Given the description of an element on the screen output the (x, y) to click on. 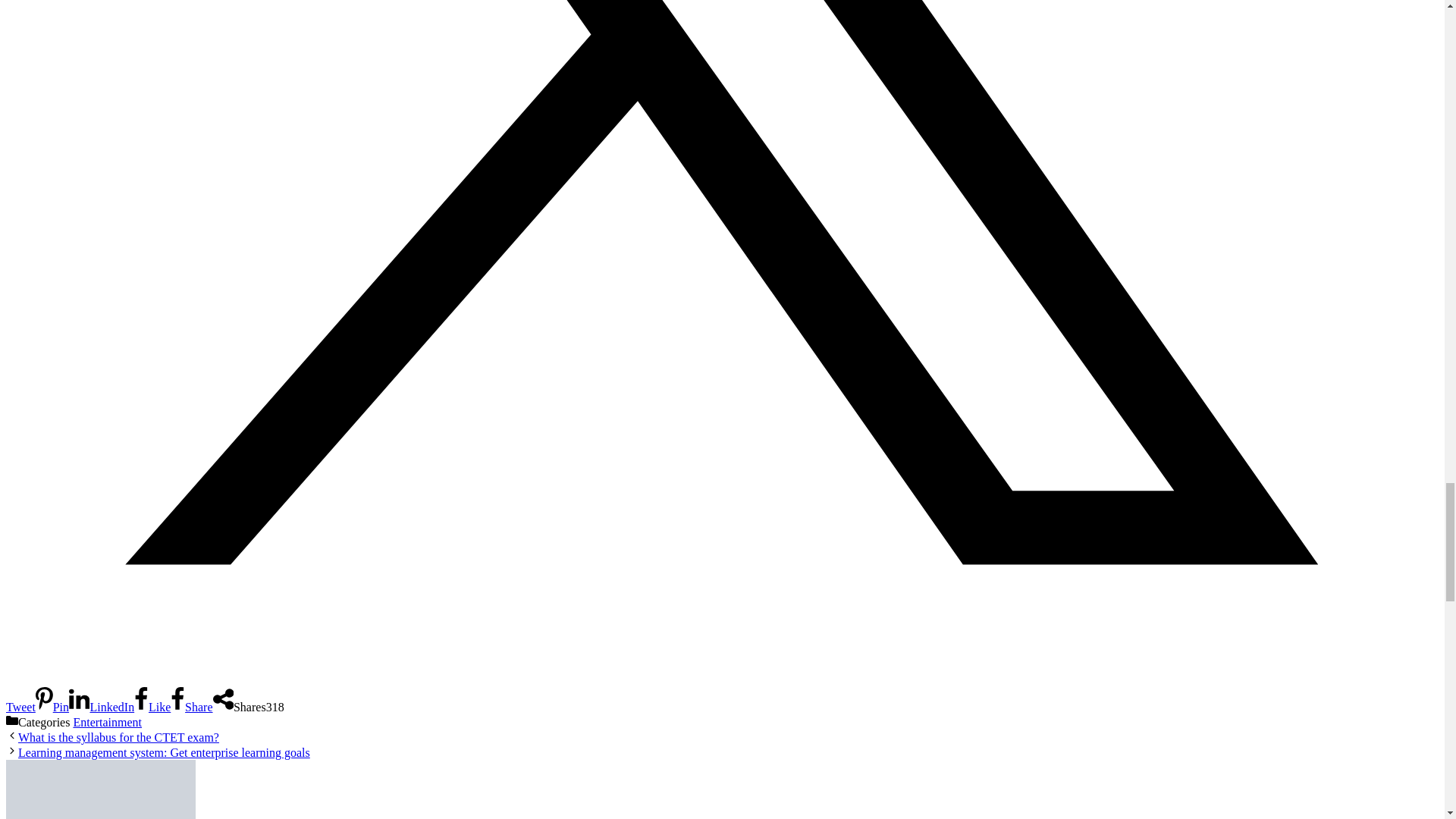
Share (191, 707)
Pin (51, 707)
Learning management system: Get enterprise learning goals (163, 752)
Entertainment (106, 721)
What is the syllabus for the CTET exam? (118, 737)
LinkedIn (100, 707)
Like (151, 707)
